Given the description of an element on the screen output the (x, y) to click on. 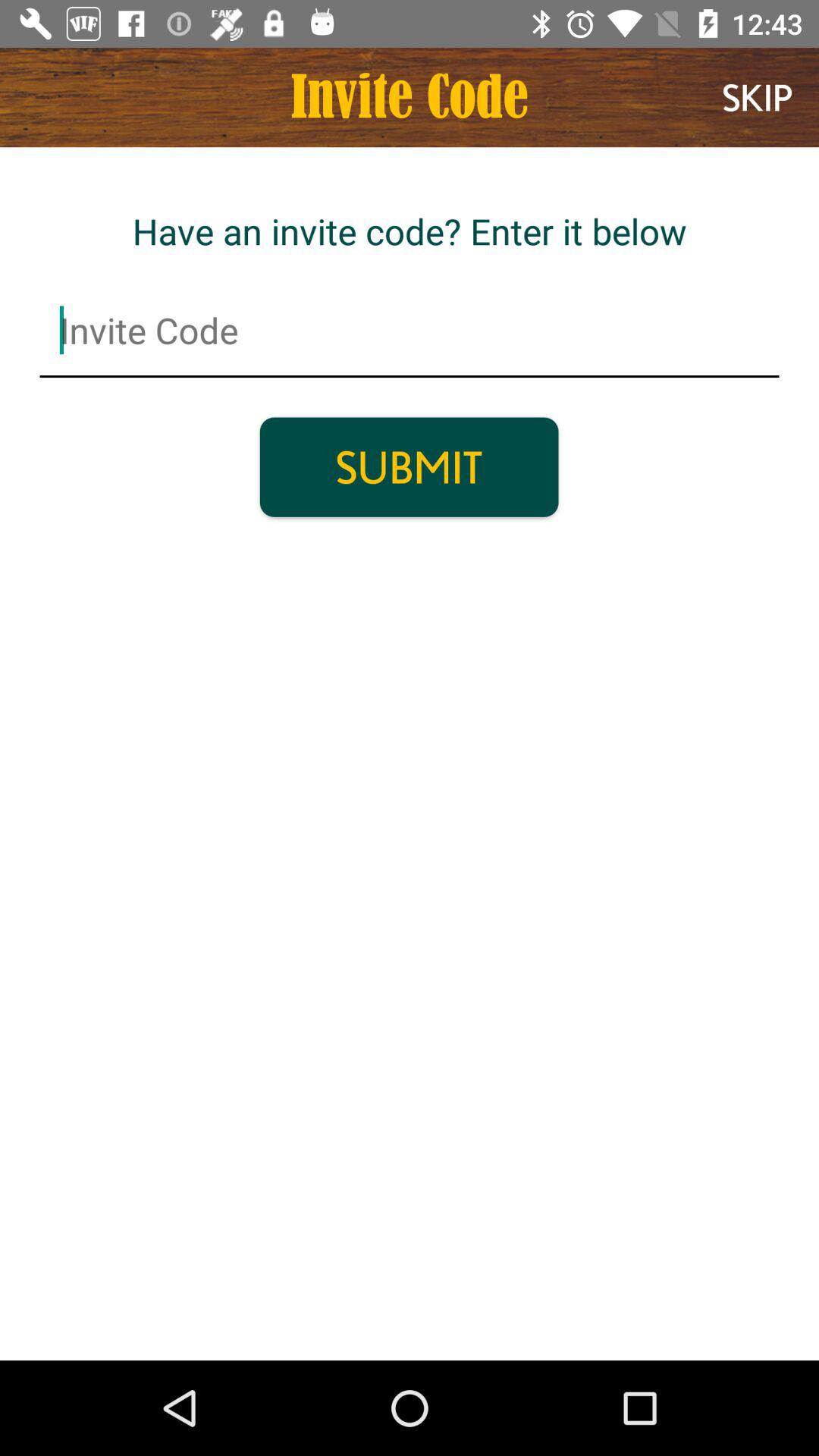
turn on skip icon (757, 97)
